Given the description of an element on the screen output the (x, y) to click on. 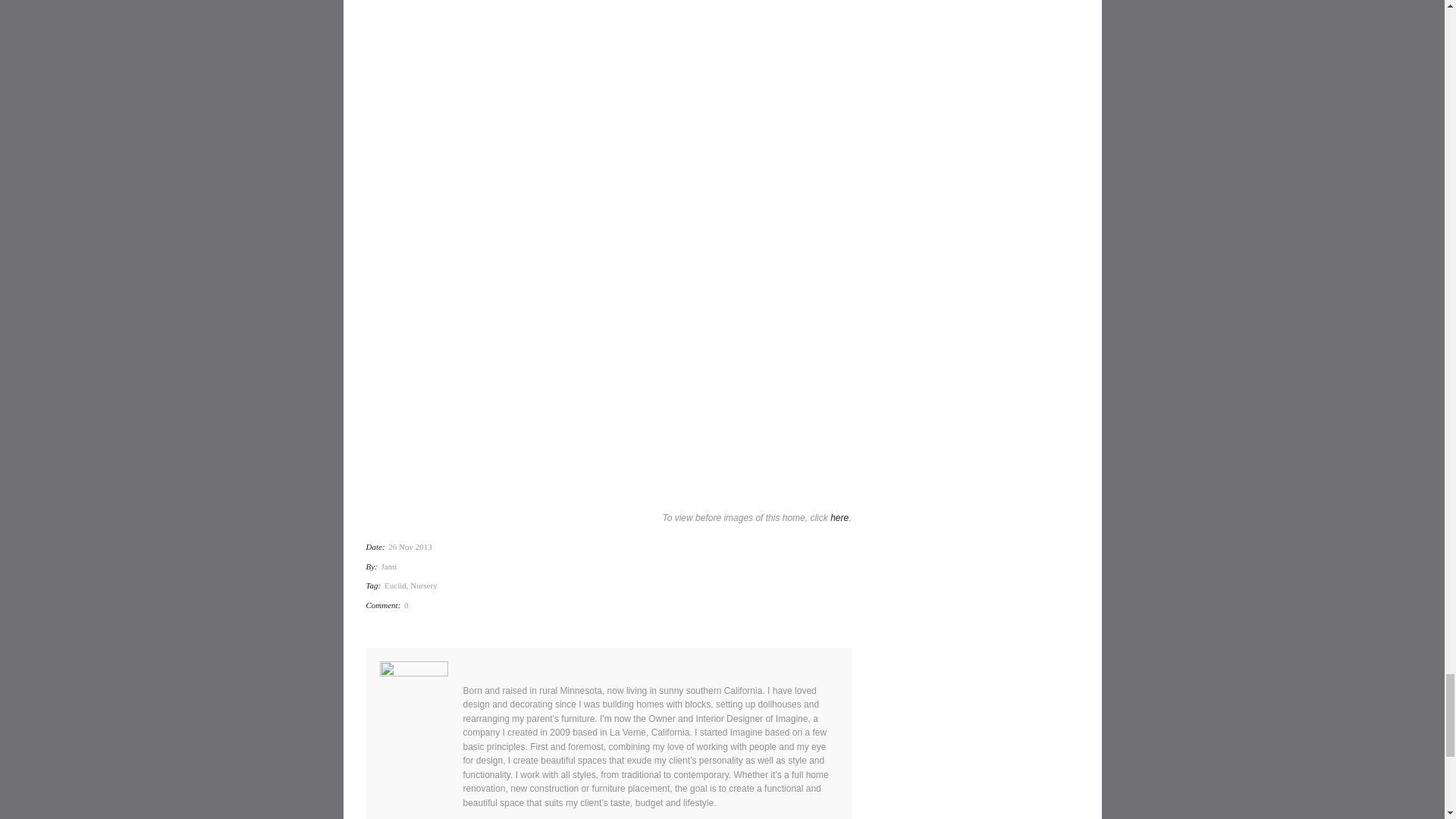
Nursery (423, 584)
here (838, 517)
Jami (389, 565)
Euclid (395, 584)
